Given the description of an element on the screen output the (x, y) to click on. 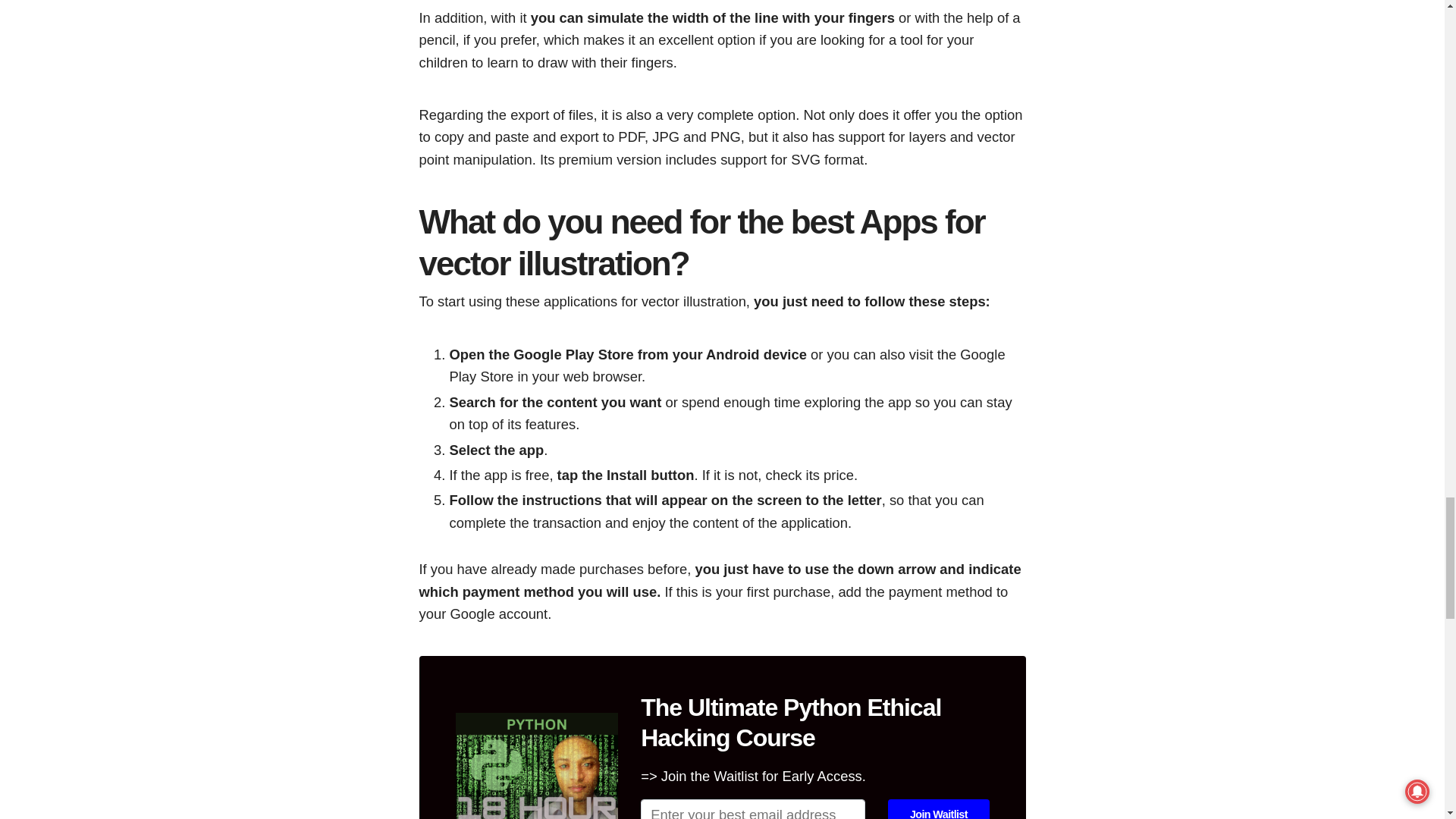
Join Waitlist (938, 809)
